Given the description of an element on the screen output the (x, y) to click on. 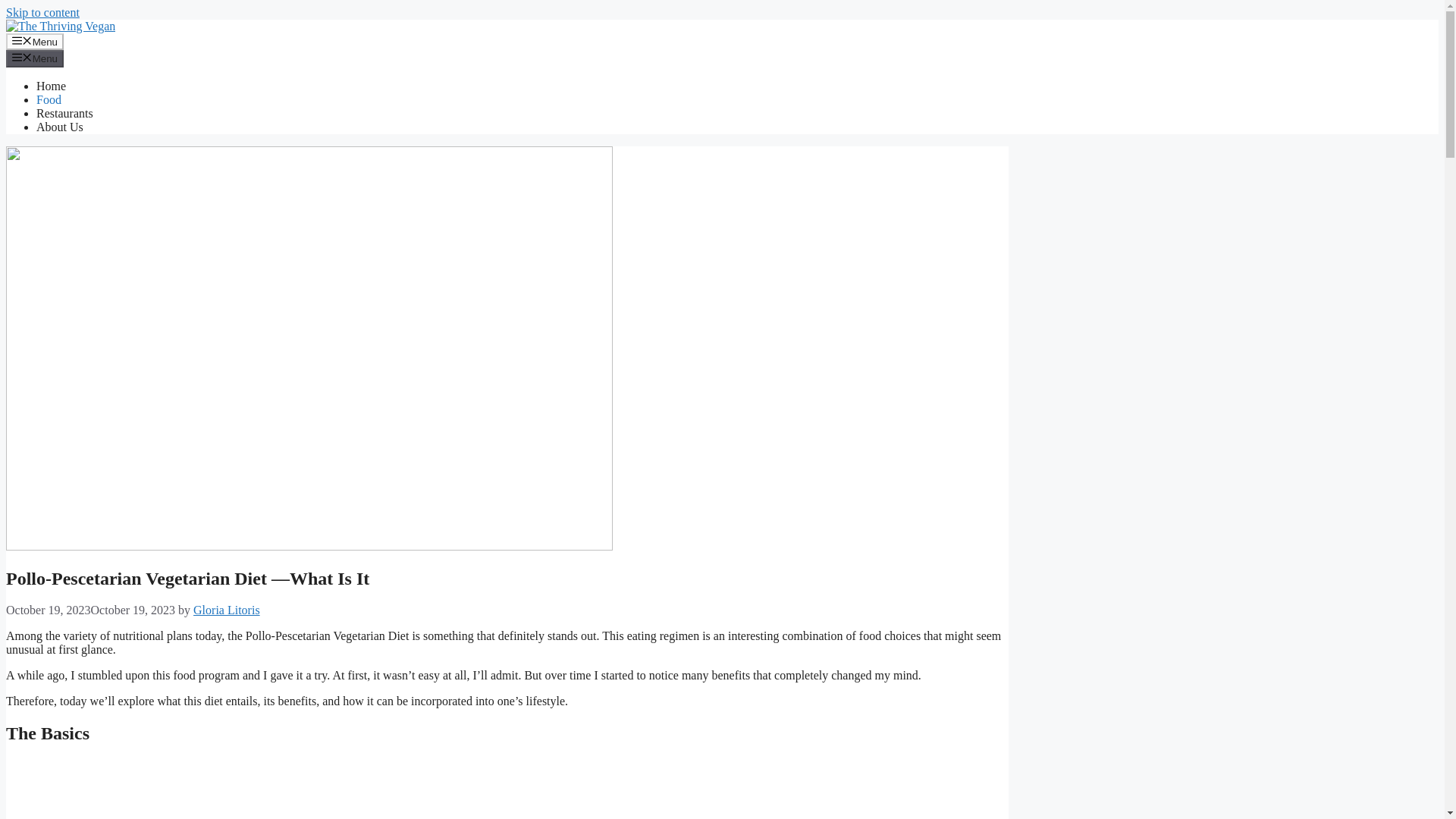
Gloria Litoris (226, 609)
Restaurants (64, 113)
Skip to content (42, 11)
Home (50, 85)
Skip to content (42, 11)
Menu (34, 57)
About Us (59, 126)
View all posts by Gloria Litoris (226, 609)
Food (48, 99)
Menu (34, 41)
